Given the description of an element on the screen output the (x, y) to click on. 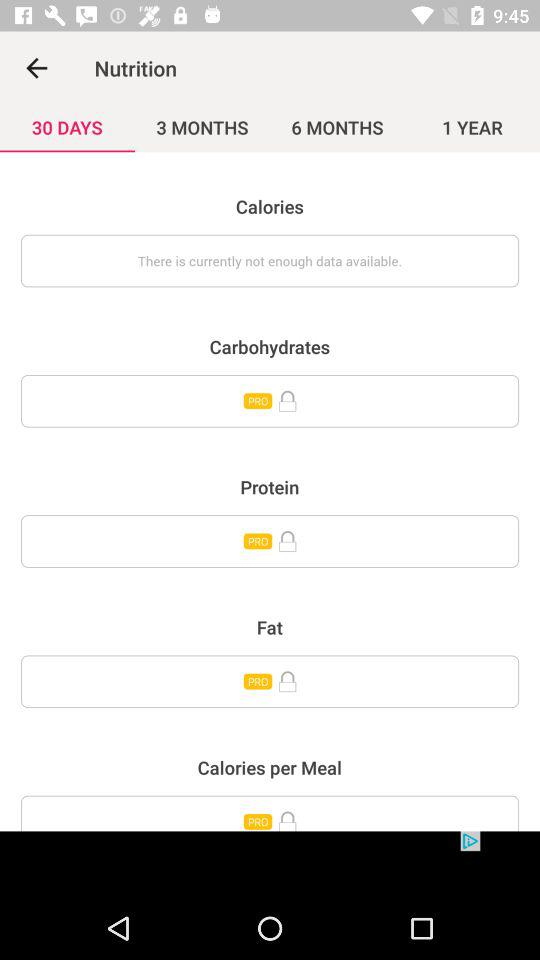
turn on the icon below the calories per meal item (269, 813)
